Given the description of an element on the screen output the (x, y) to click on. 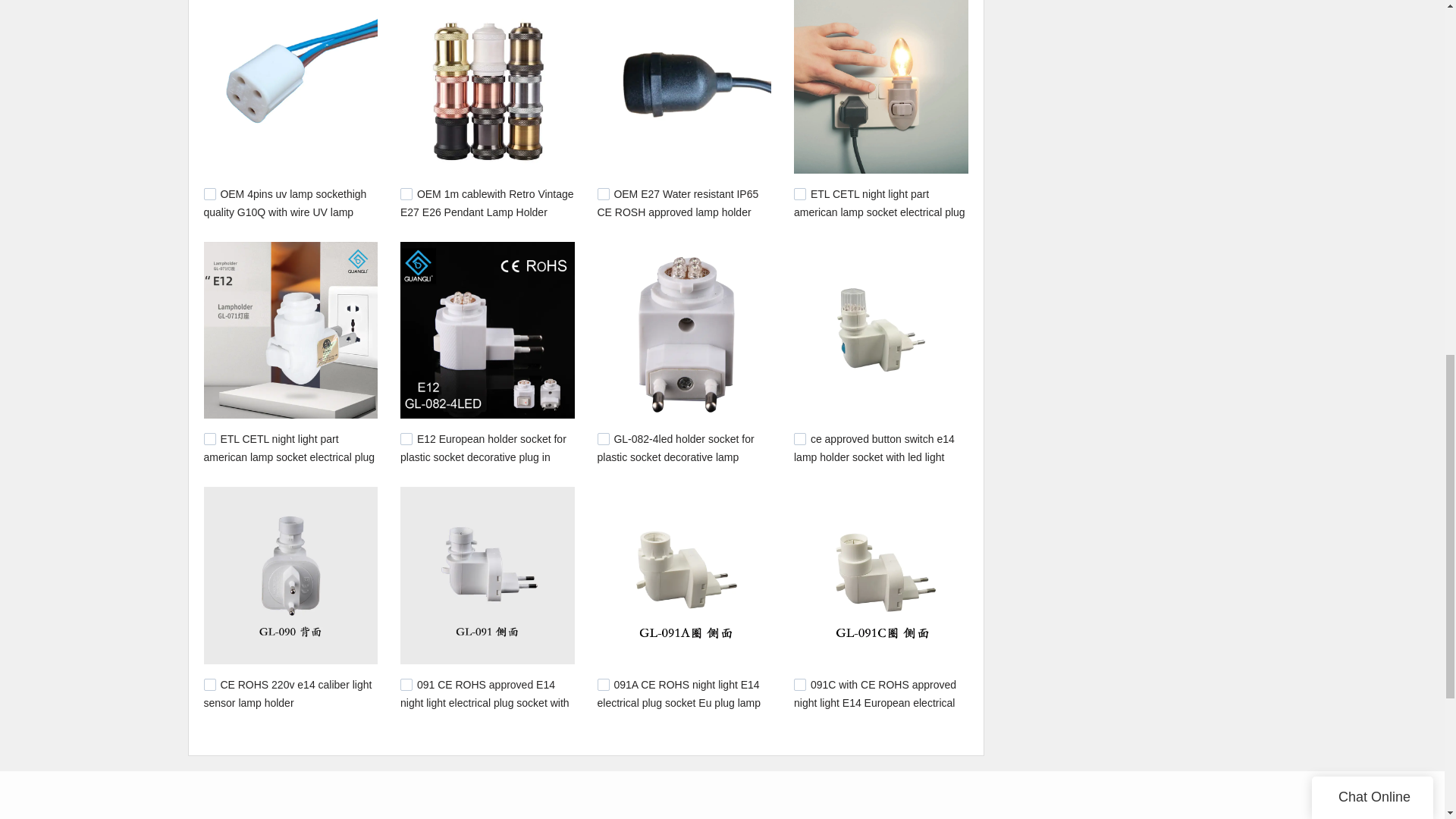
10416 (209, 684)
10487 (603, 684)
10479 (603, 439)
10414 (799, 684)
